Given the description of an element on the screen output the (x, y) to click on. 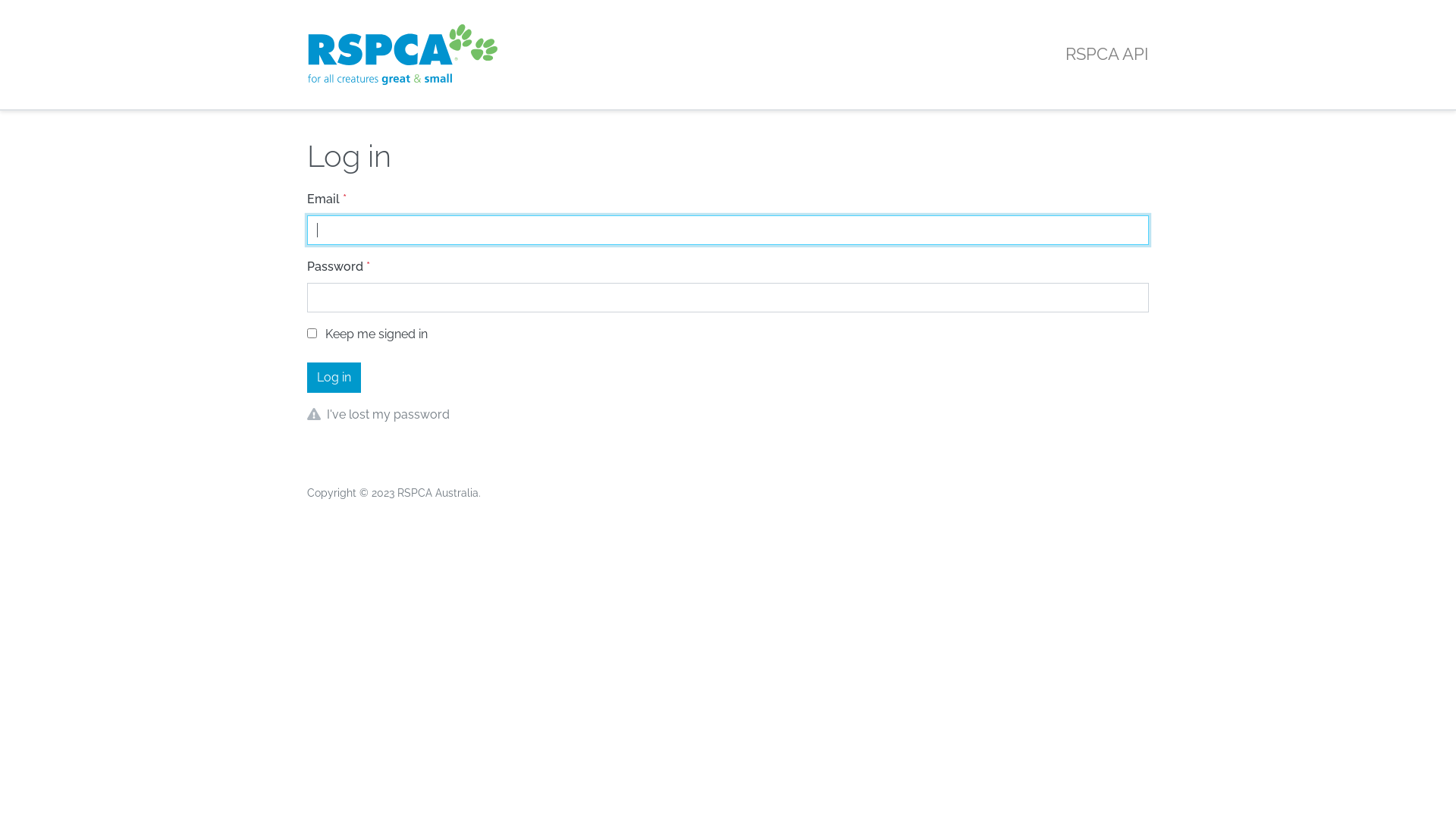
RSPCA API Element type: hover (402, 54)
I've lost my password Element type: text (387, 414)
RSPCA Australia Element type: text (437, 492)
Remember me next time? (for 90 days on this device) Element type: hover (311, 333)
Log in Element type: text (333, 377)
